Given the description of an element on the screen output the (x, y) to click on. 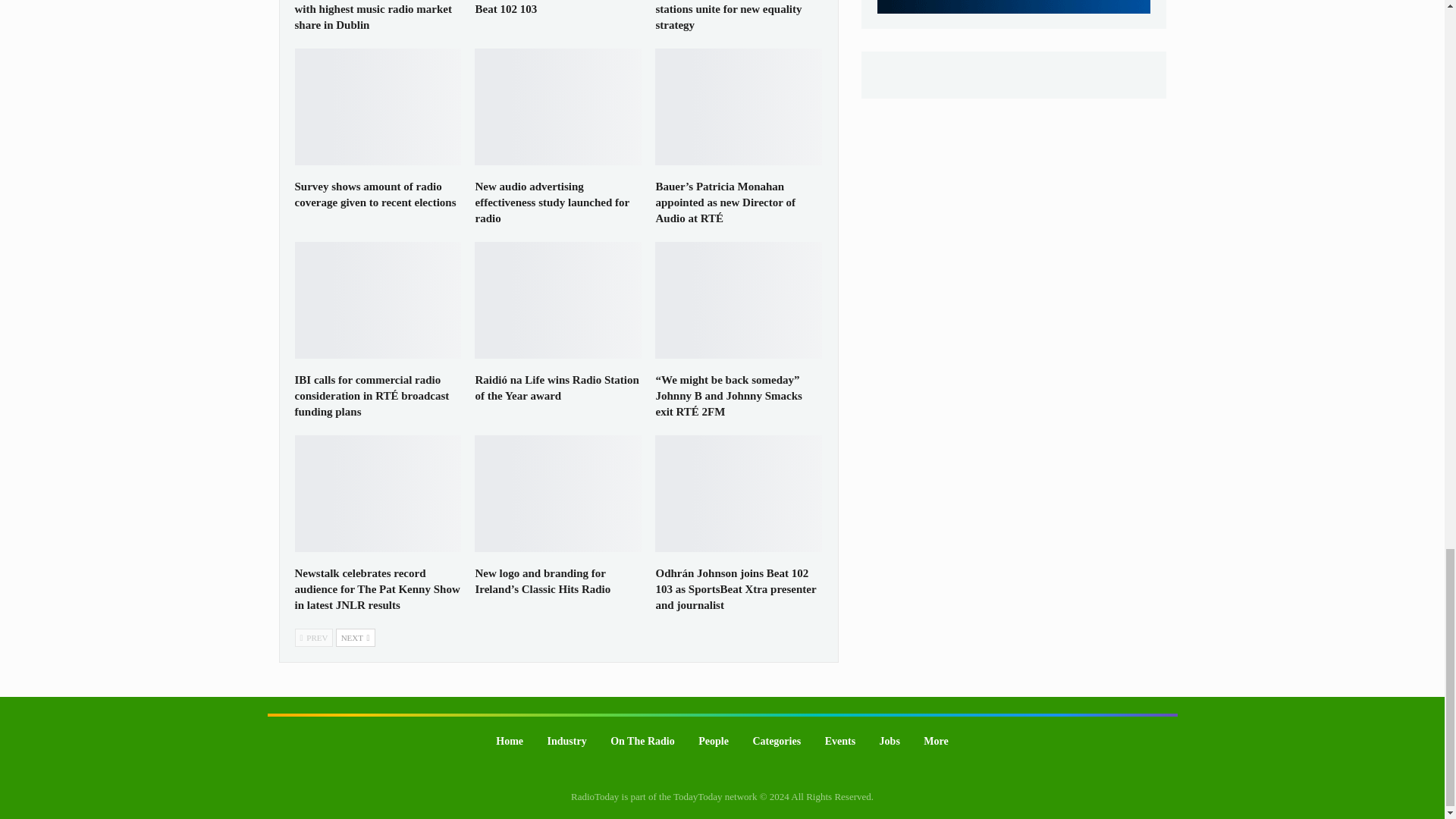
Bauer finalises its acquisition of Beat 102 103 (551, 7)
New audio advertising effectiveness study launched for radio (558, 106)
New audio advertising effectiveness study launched for radio (551, 202)
